Given the description of an element on the screen output the (x, y) to click on. 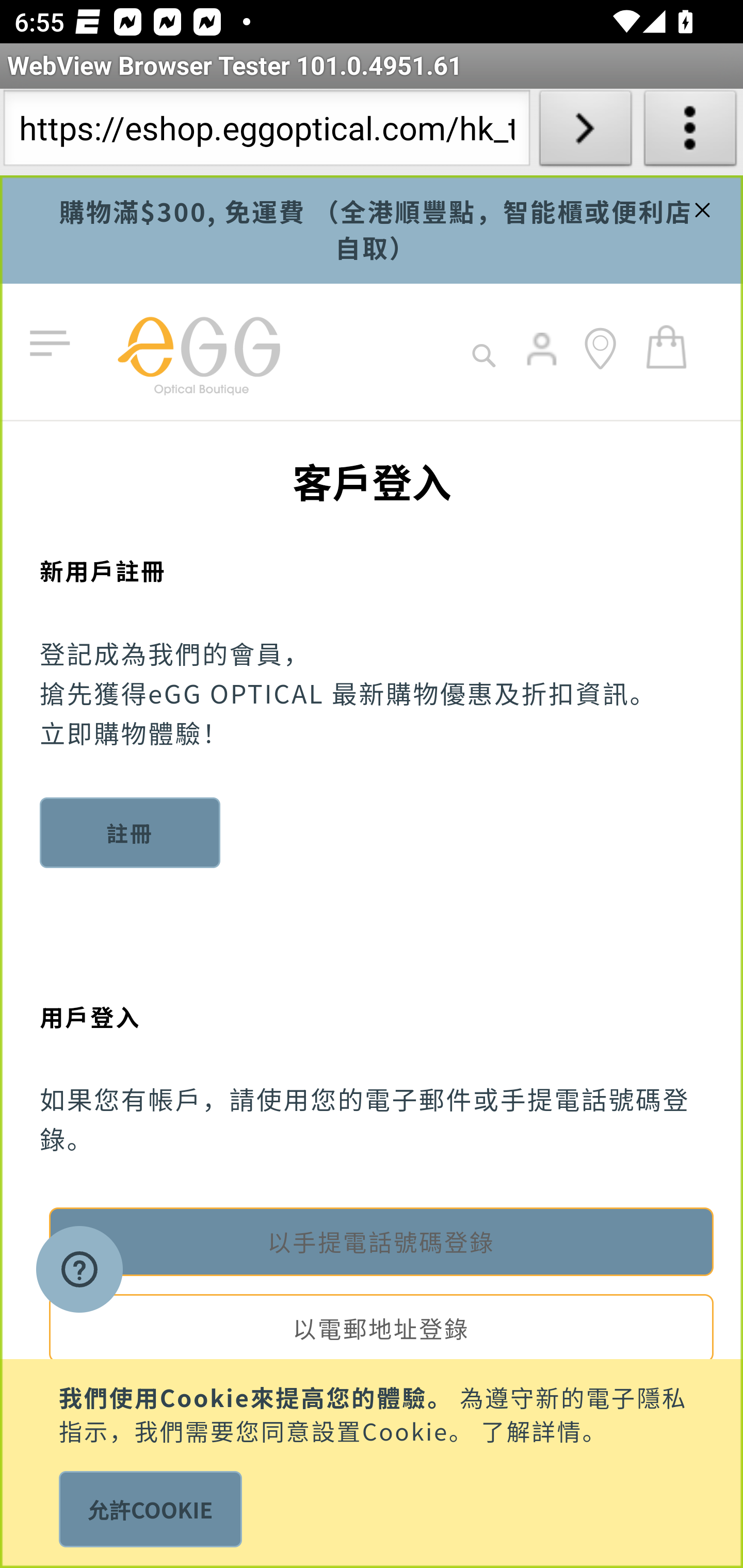
Load URL (585, 132)
About WebView (690, 132)
 (699, 206)
store logo eGG 網上商店 (198, 351)
切換導航 (54, 343)
我的購物車 (666, 345)
login (543, 362)
註冊 (130, 832)
Opens a widget where you can find more information (79, 1270)
了解詳情 (531, 1429)
允許COOKIE (149, 1509)
